Given the description of an element on the screen output the (x, y) to click on. 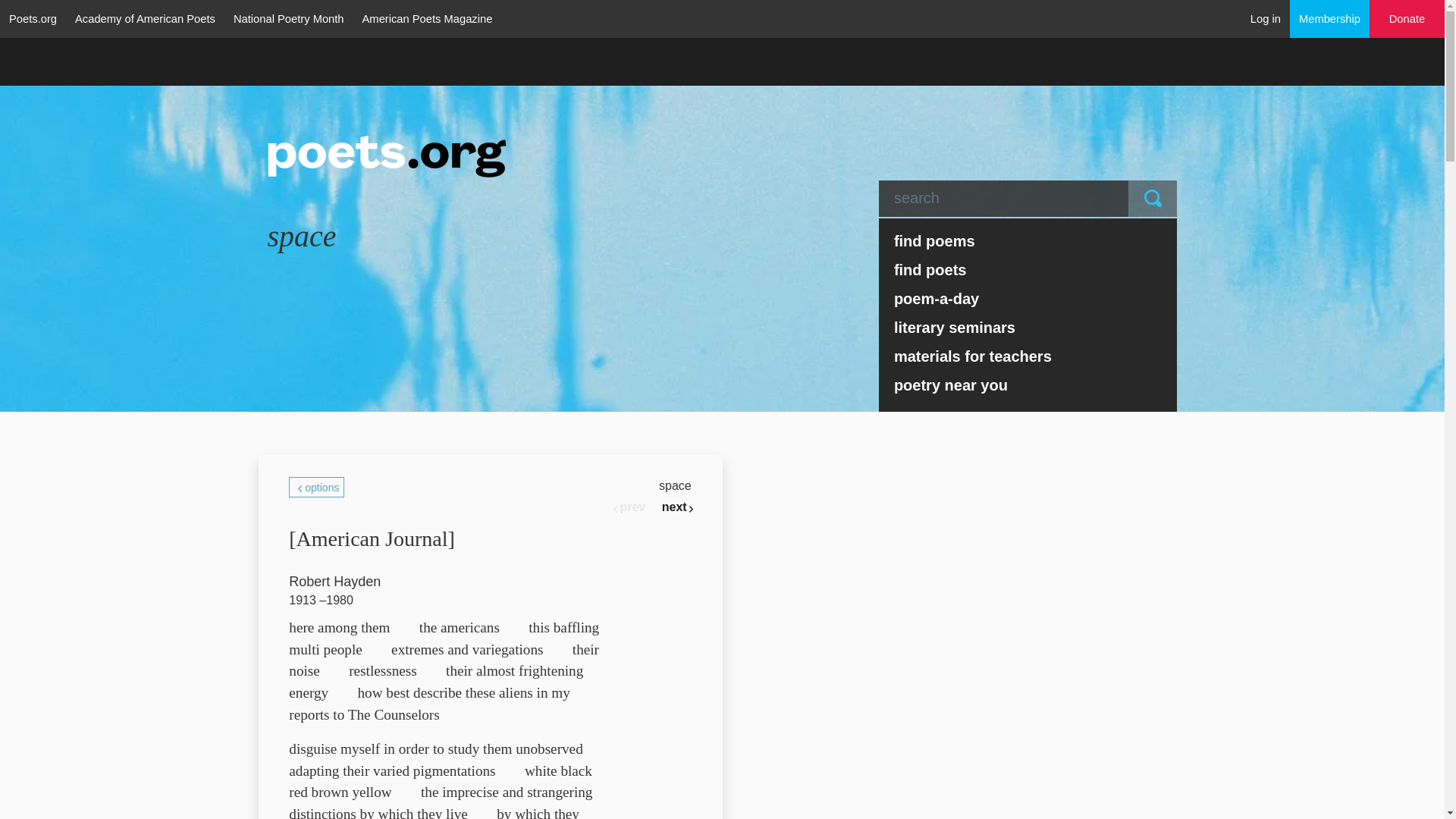
Log in (1265, 18)
poetry near you (1028, 385)
poem-a-day (1028, 298)
Membership (1330, 18)
American Poets Magazine (427, 18)
Donate (1407, 18)
Academy of American Poets (144, 18)
Submit (1152, 198)
National Poetry Month (288, 18)
find poems (1028, 240)
